Given the description of an element on the screen output the (x, y) to click on. 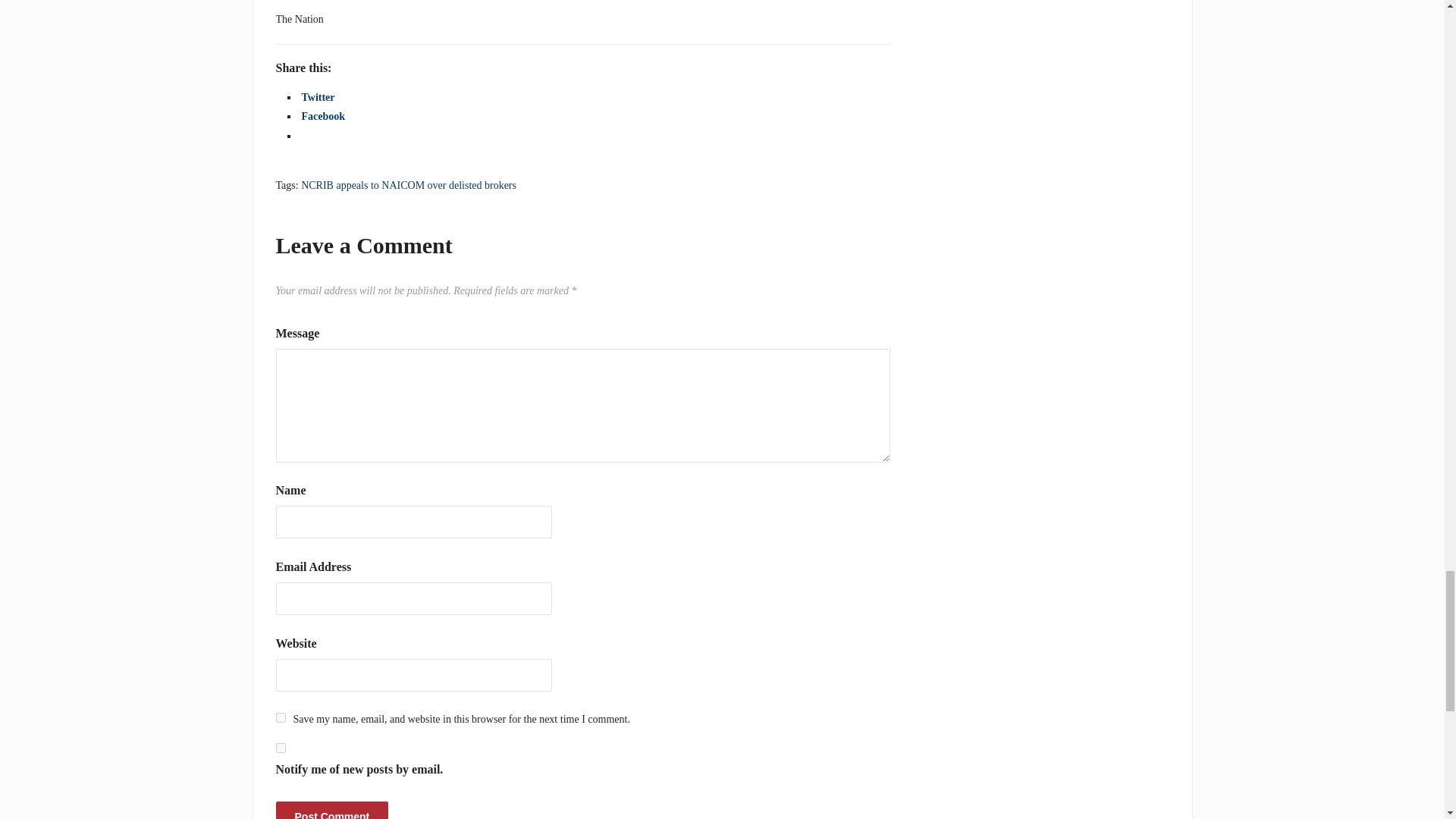
Click to share on Twitter (317, 97)
Twitter (317, 97)
Post Comment (332, 810)
Post Comment (332, 810)
Facebook (323, 116)
NCRIB appeals to NAICOM over delisted brokers (408, 184)
Click to share on Facebook (323, 116)
subscribe (280, 747)
yes (280, 717)
